Given the description of an element on the screen output the (x, y) to click on. 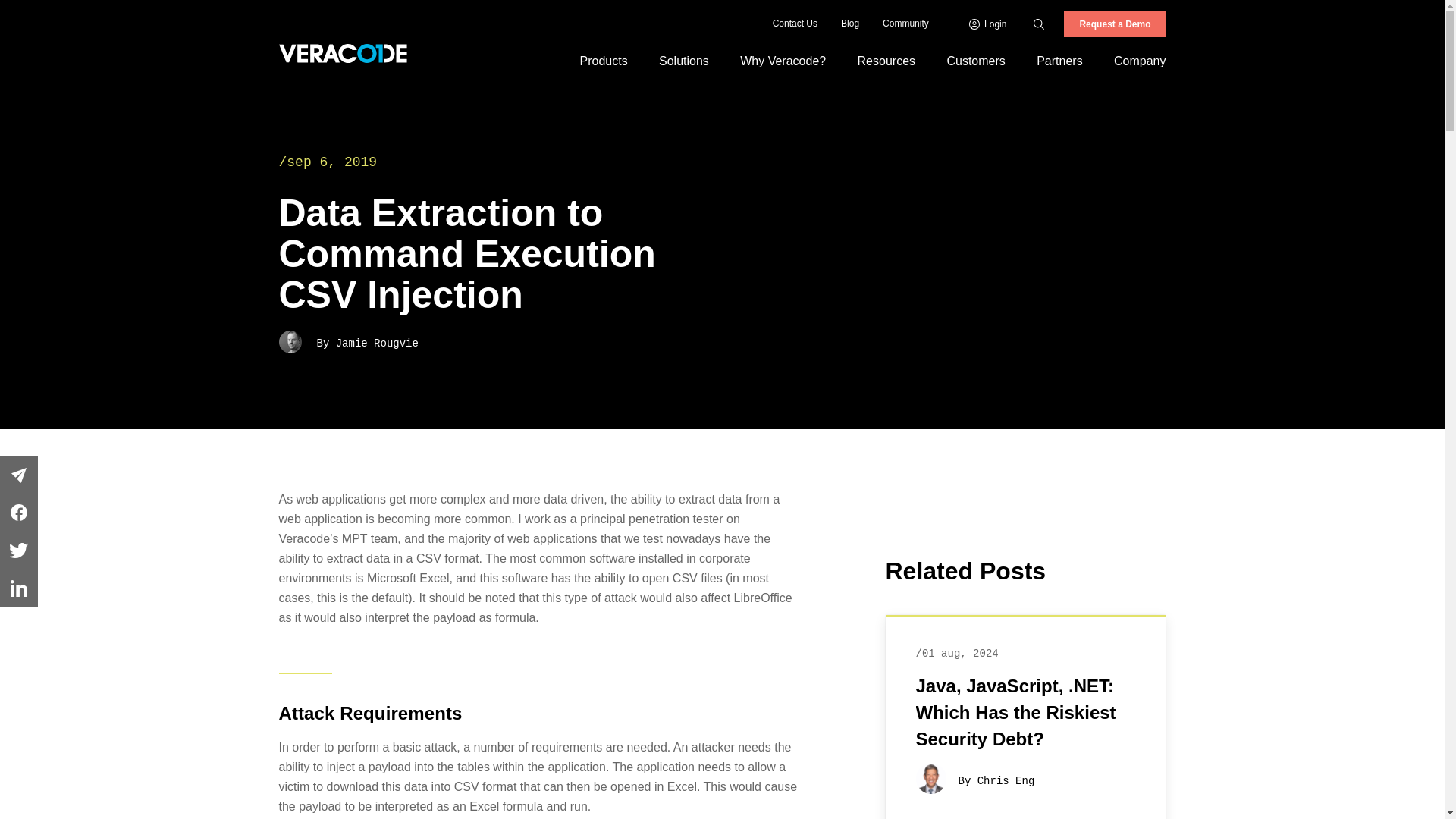
Login (988, 23)
Why Veracode? (783, 61)
Enter the terms you wish to search for. (1055, 24)
Solutions (683, 61)
Community (905, 23)
Products (603, 61)
Veracode (343, 53)
Request a Demo (1115, 23)
Contact Us (794, 23)
